Given the description of an element on the screen output the (x, y) to click on. 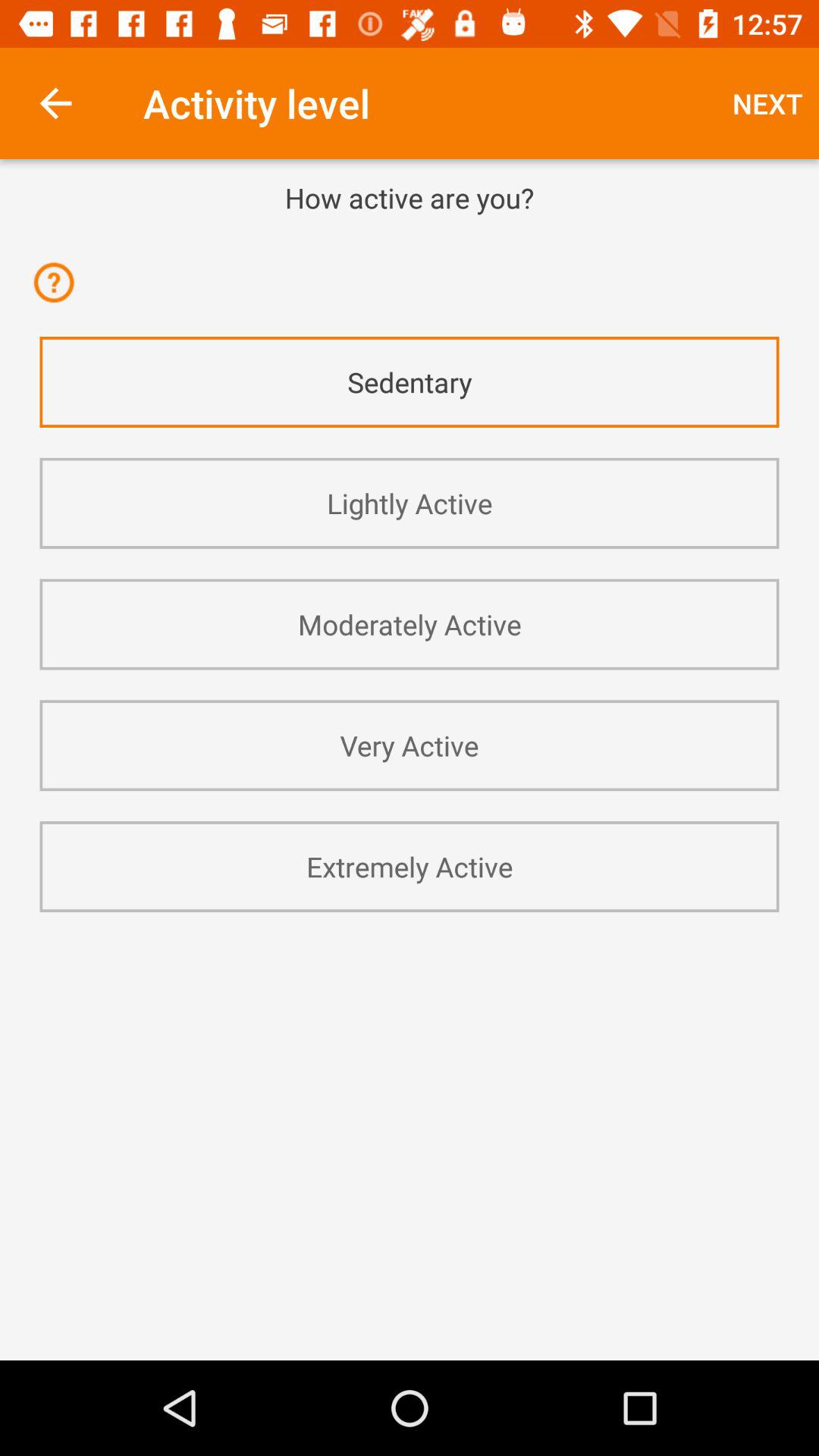
click the app above extremely active icon (409, 745)
